Given the description of an element on the screen output the (x, y) to click on. 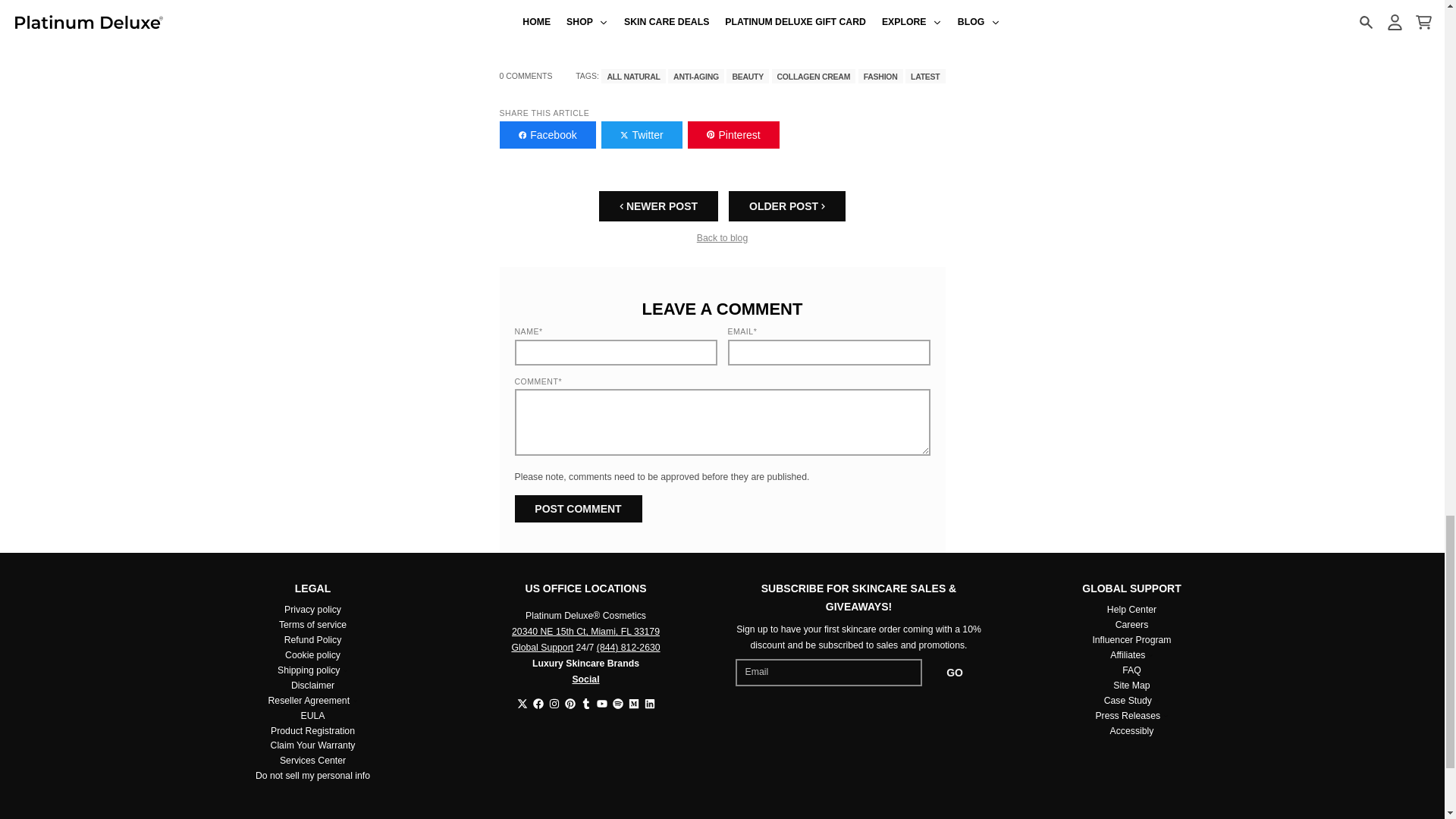
YouTube - Platinum Deluxe Cosmetics (601, 703)
Spotify - Platinum Deluxe Cosmetics (617, 703)
LinkedIn - Platinum Deluxe Cosmetics (650, 703)
Post comment (577, 508)
Tumblr - Platinum Deluxe Cosmetics (585, 703)
Instagram - Platinum Deluxe Cosmetics (553, 703)
Medium - Platinum Deluxe Cosmetics (633, 703)
Pinterest - Platinum Deluxe Cosmetics (569, 703)
Facebook - Platinum Deluxe Cosmetics (537, 703)
Twitter - Platinum Deluxe Cosmetics (521, 703)
